Given the description of an element on the screen output the (x, y) to click on. 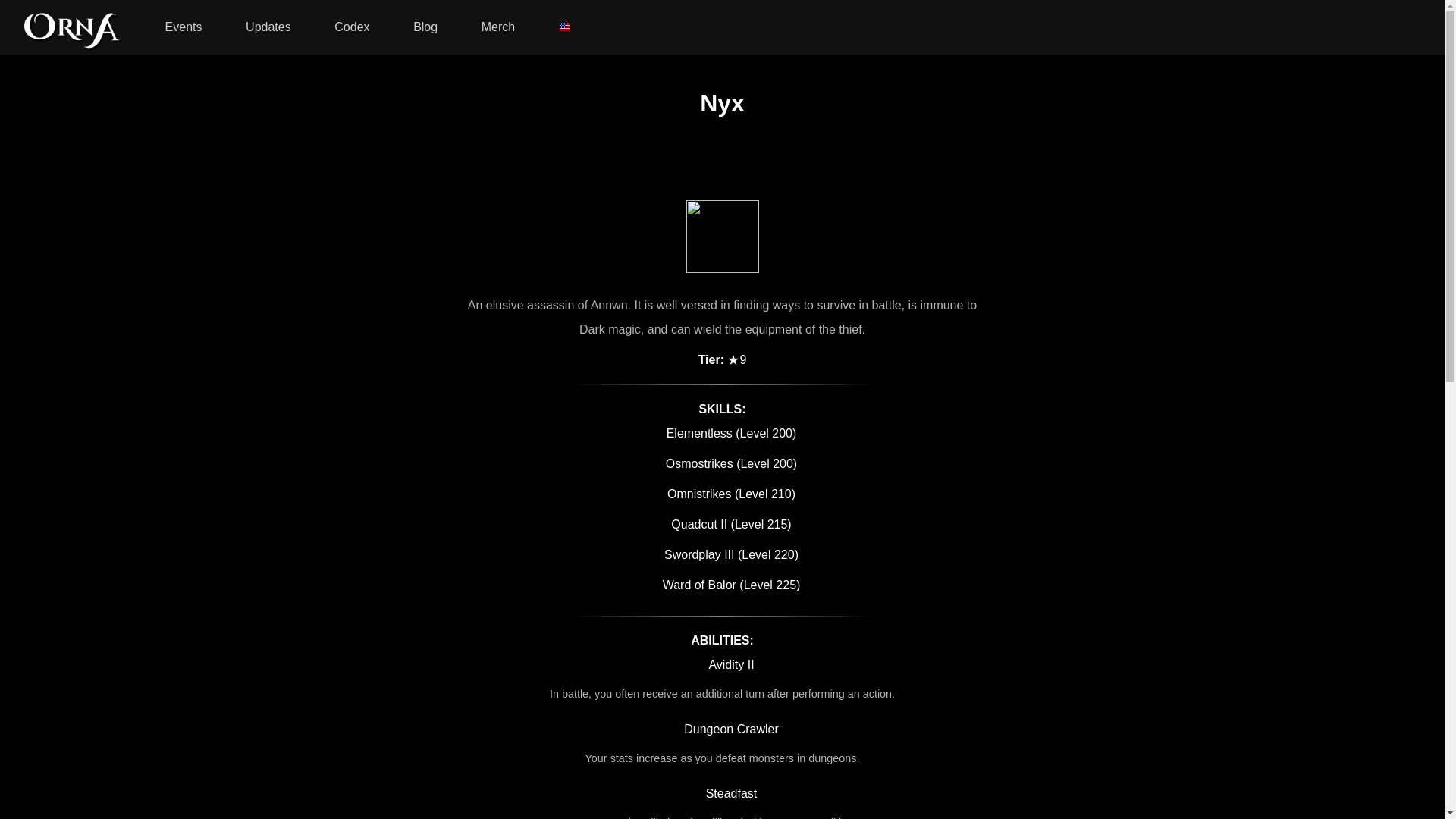
Orna: A GPS RPG (72, 26)
Events (183, 27)
Updates (268, 27)
Merch (498, 27)
Blog (425, 27)
Codex (351, 27)
